Given the description of an element on the screen output the (x, y) to click on. 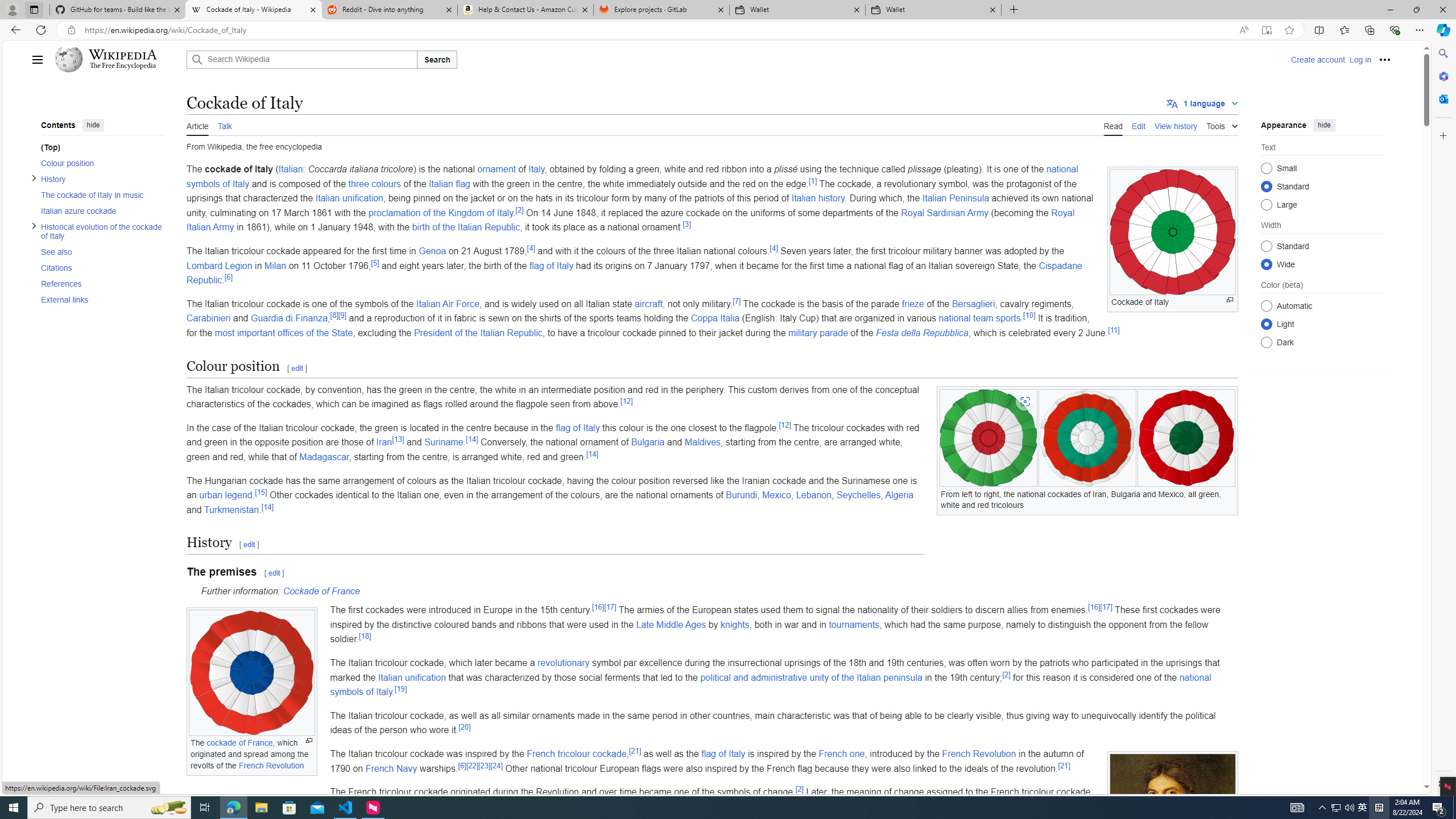
Article (197, 124)
Lebanon (812, 495)
knights (734, 624)
Cockade of France (320, 590)
Royal Italian Army (630, 219)
cockade of France (239, 742)
Italian azure cockade (101, 210)
birth of the Italian Republic (465, 227)
Large (1266, 204)
